Given the description of an element on the screen output the (x, y) to click on. 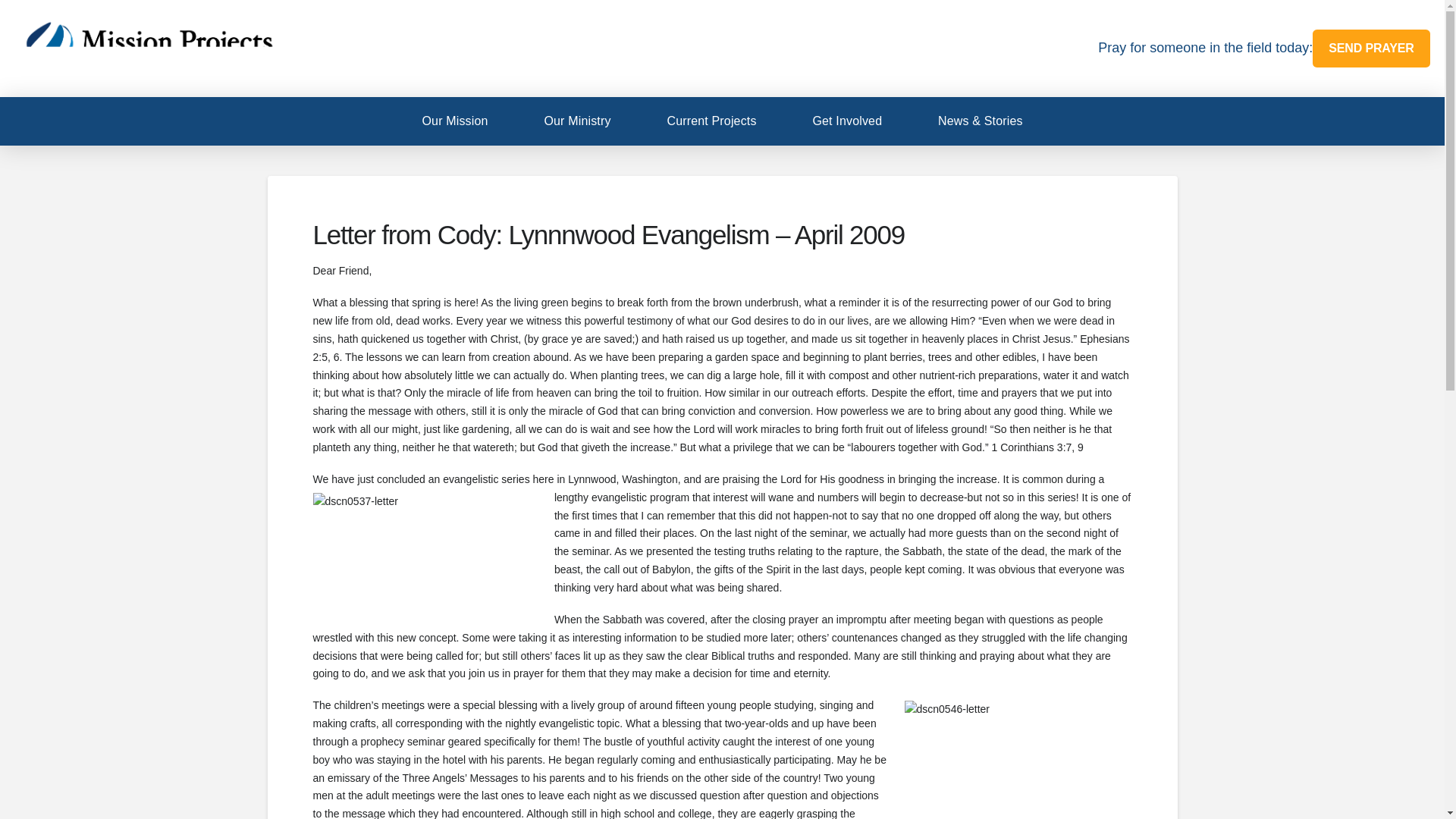
SEND PRAYER (1371, 48)
Get Involved (847, 121)
dscn0546-letter (1017, 760)
dscn0537-letter (426, 555)
Our Mission (454, 121)
Our Ministry (577, 121)
Current Projects (711, 121)
